Given the description of an element on the screen output the (x, y) to click on. 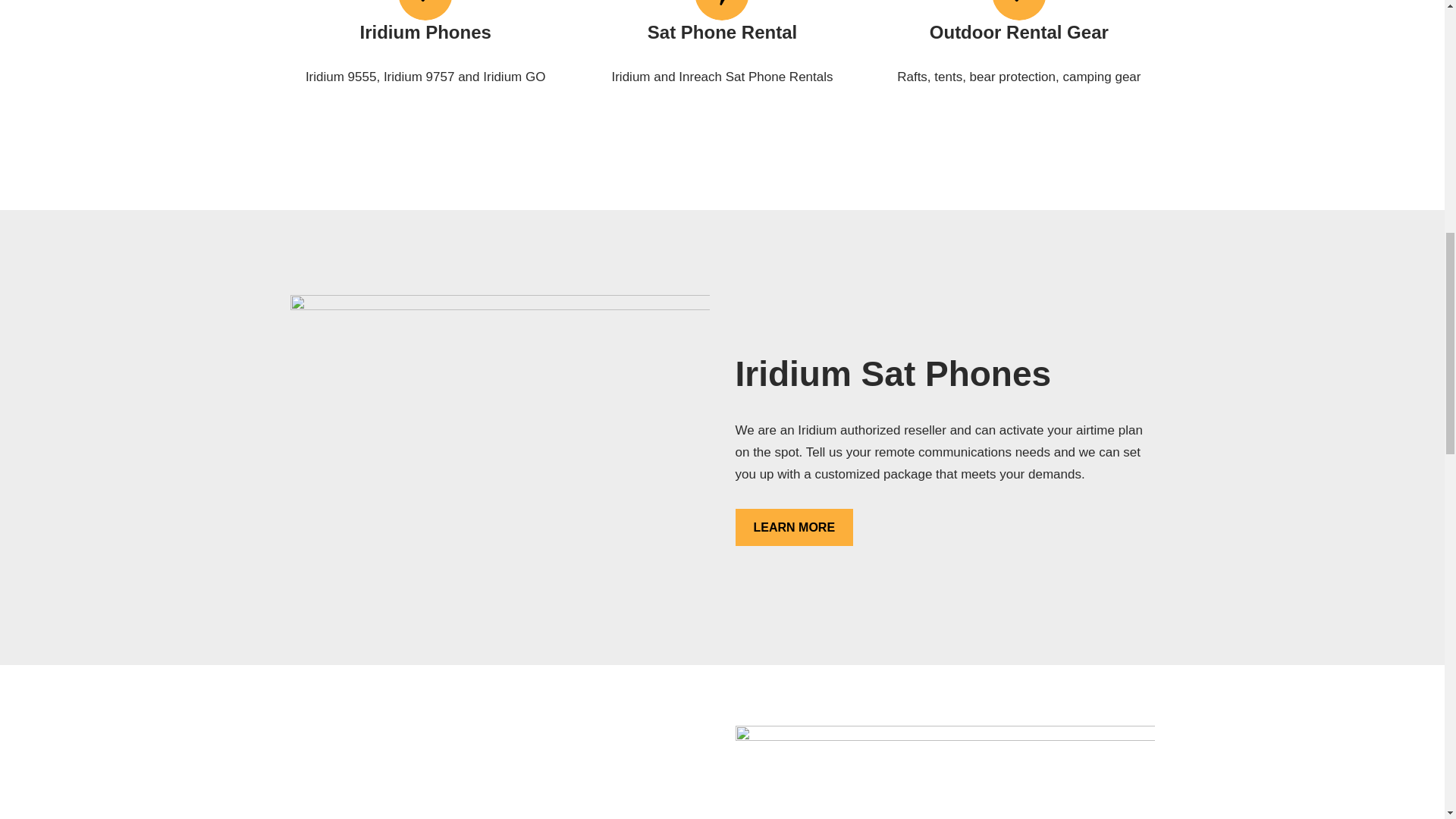
LEARN MORE (794, 527)
